Given the description of an element on the screen output the (x, y) to click on. 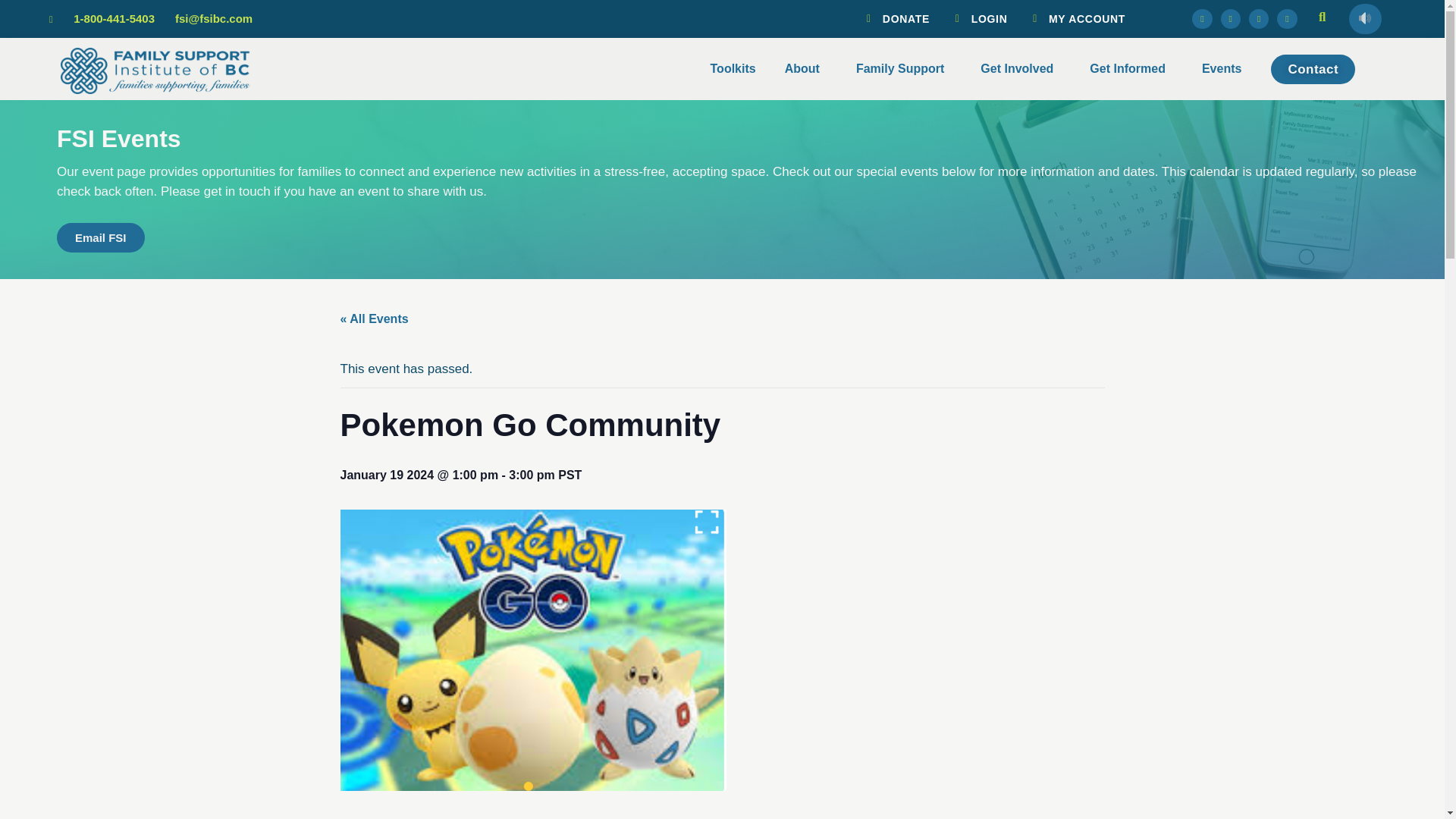
About (805, 68)
Play (1364, 19)
MY ACCOUNT (1074, 18)
Toolkits (732, 68)
LOGIN (976, 18)
Get Involved (1020, 68)
Get Informed (1131, 68)
DONATE (893, 18)
Family Support (903, 68)
